Given the description of an element on the screen output the (x, y) to click on. 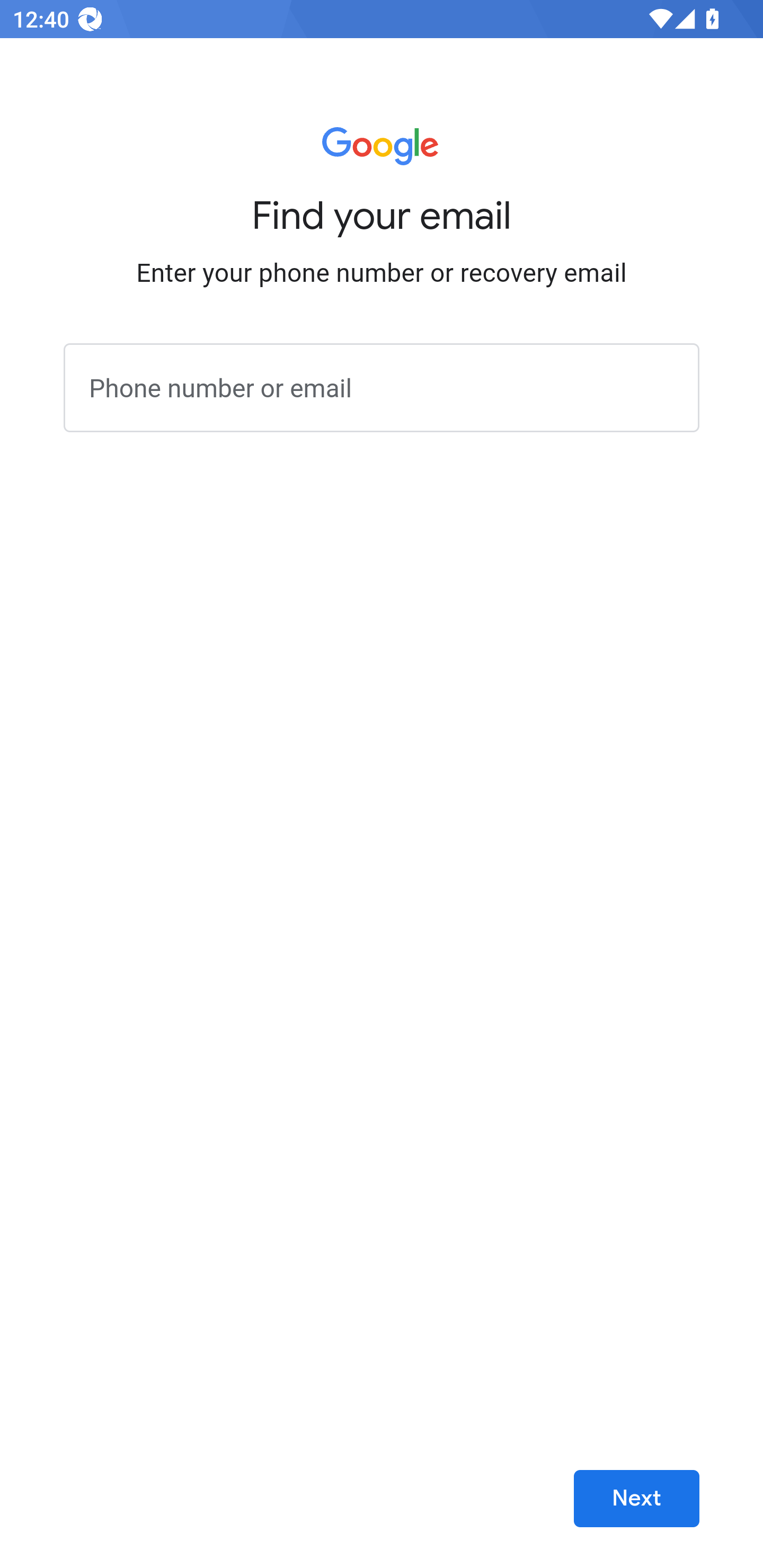
Next (635, 1498)
